Given the description of an element on the screen output the (x, y) to click on. 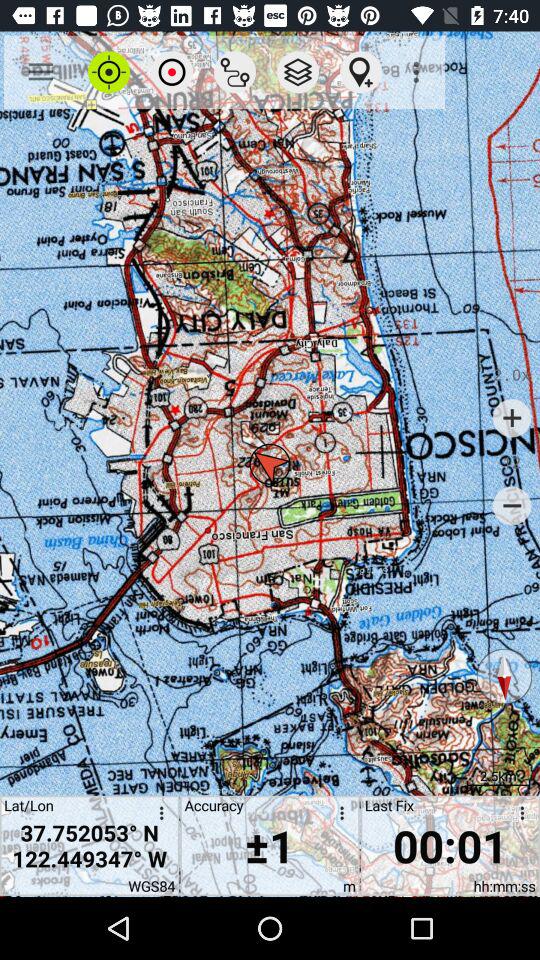
more options (158, 816)
